Given the description of an element on the screen output the (x, y) to click on. 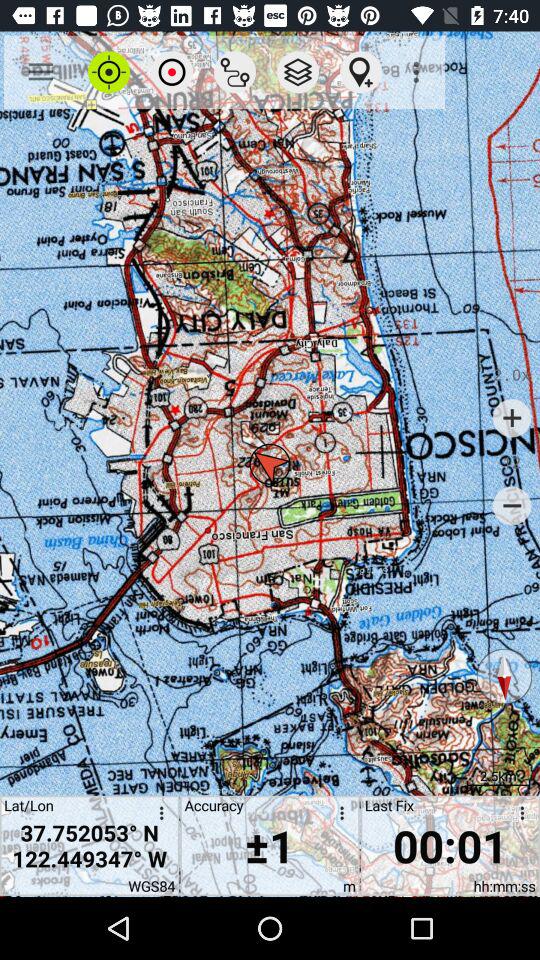
more options (158, 816)
